Given the description of an element on the screen output the (x, y) to click on. 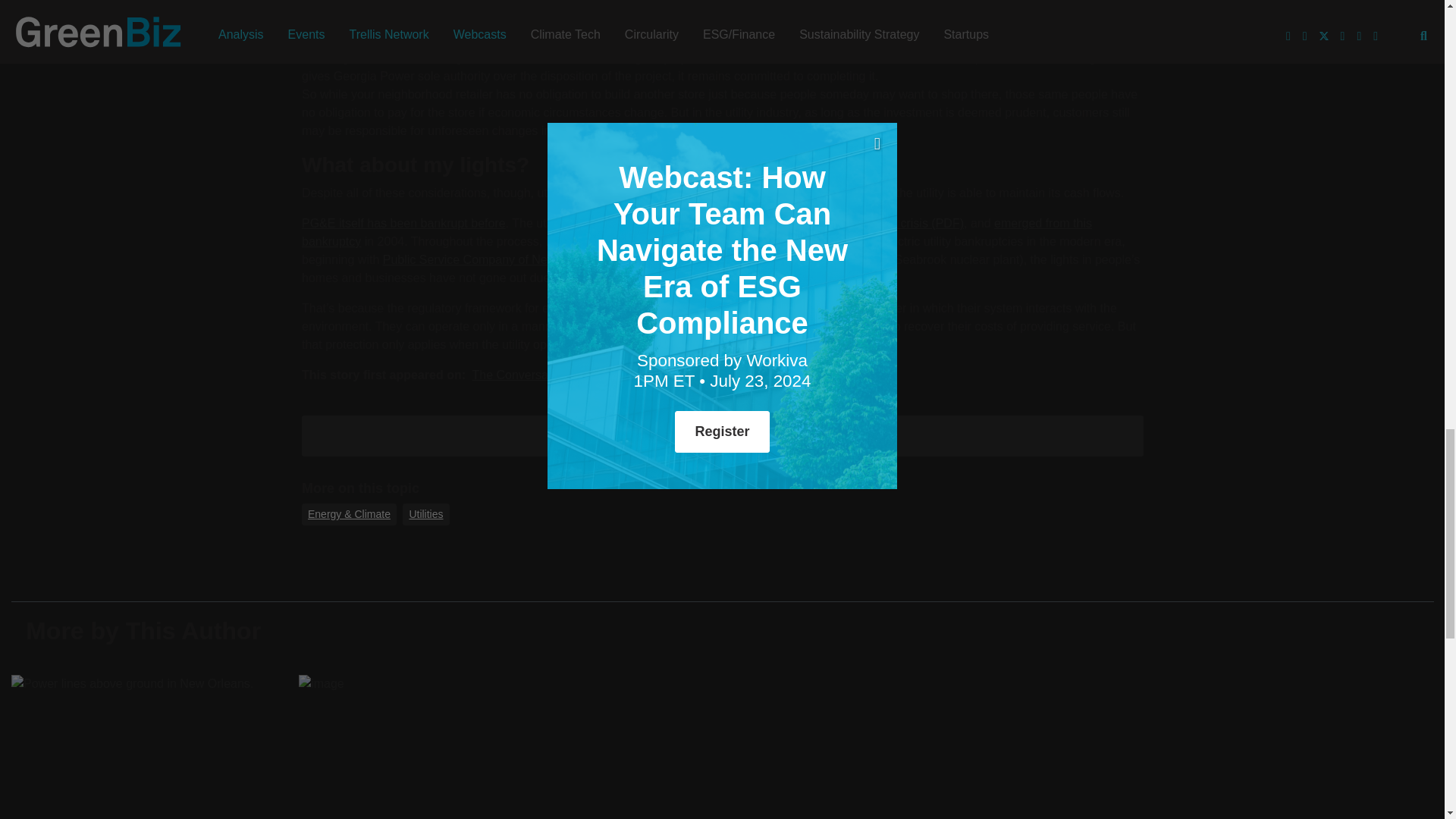
3rd party ad content (439, 433)
